Given the description of an element on the screen output the (x, y) to click on. 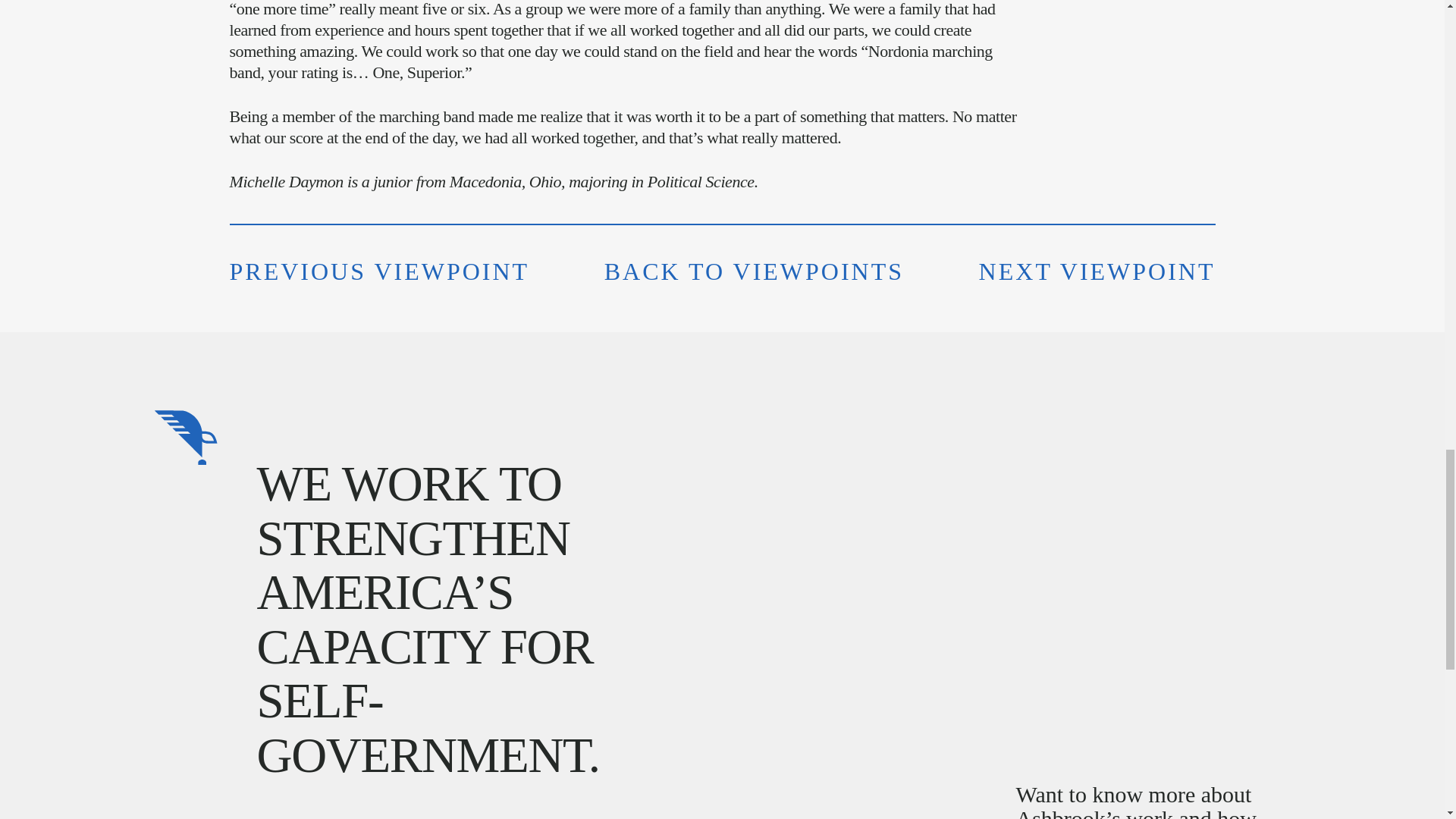
PREVIOUS VIEWPOINT (378, 271)
NEXT VIEWPOINT (1096, 271)
BACK TO VIEWPOINTS (754, 271)
